Given the description of an element on the screen output the (x, y) to click on. 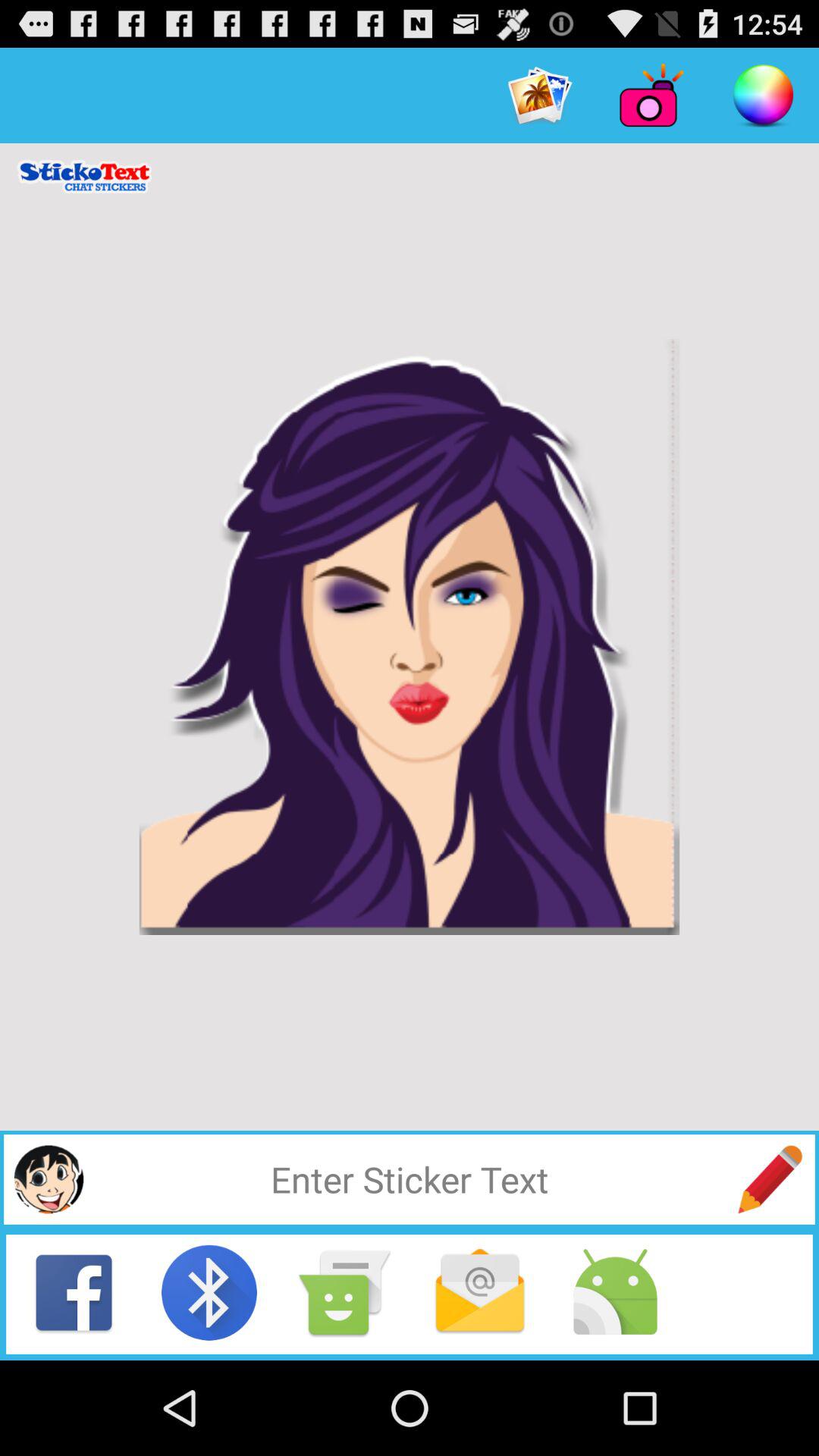
check email (479, 1292)
